Given the description of an element on the screen output the (x, y) to click on. 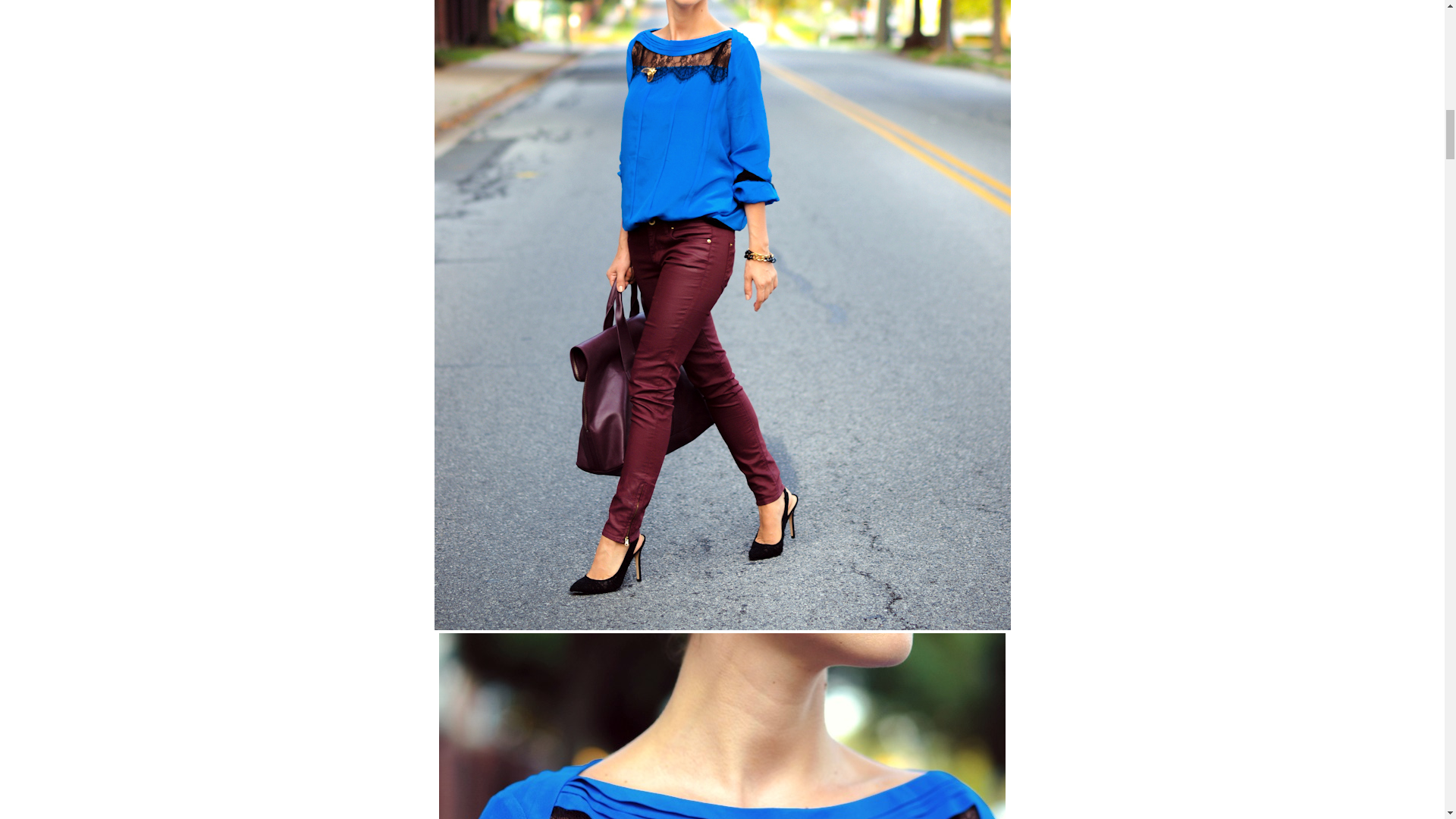
Glimpses of Fall Colors (722, 726)
